Given the description of an element on the screen output the (x, y) to click on. 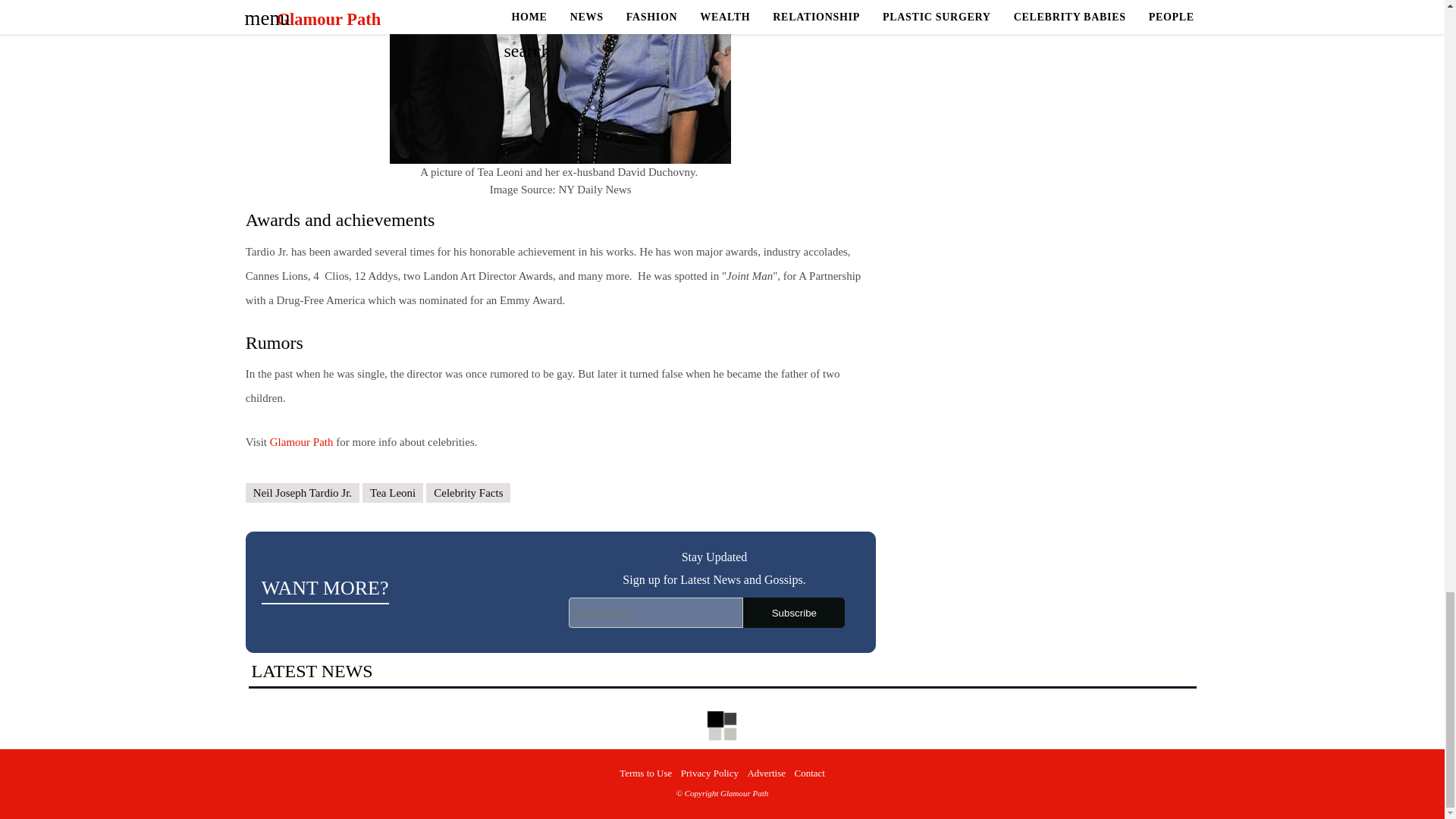
Glamour Path (301, 441)
Celebrity Facts (468, 493)
Subscribe (793, 612)
Tea Leoni (392, 493)
Neil Joseph Tardio Jr. (302, 493)
